Given the description of an element on the screen output the (x, y) to click on. 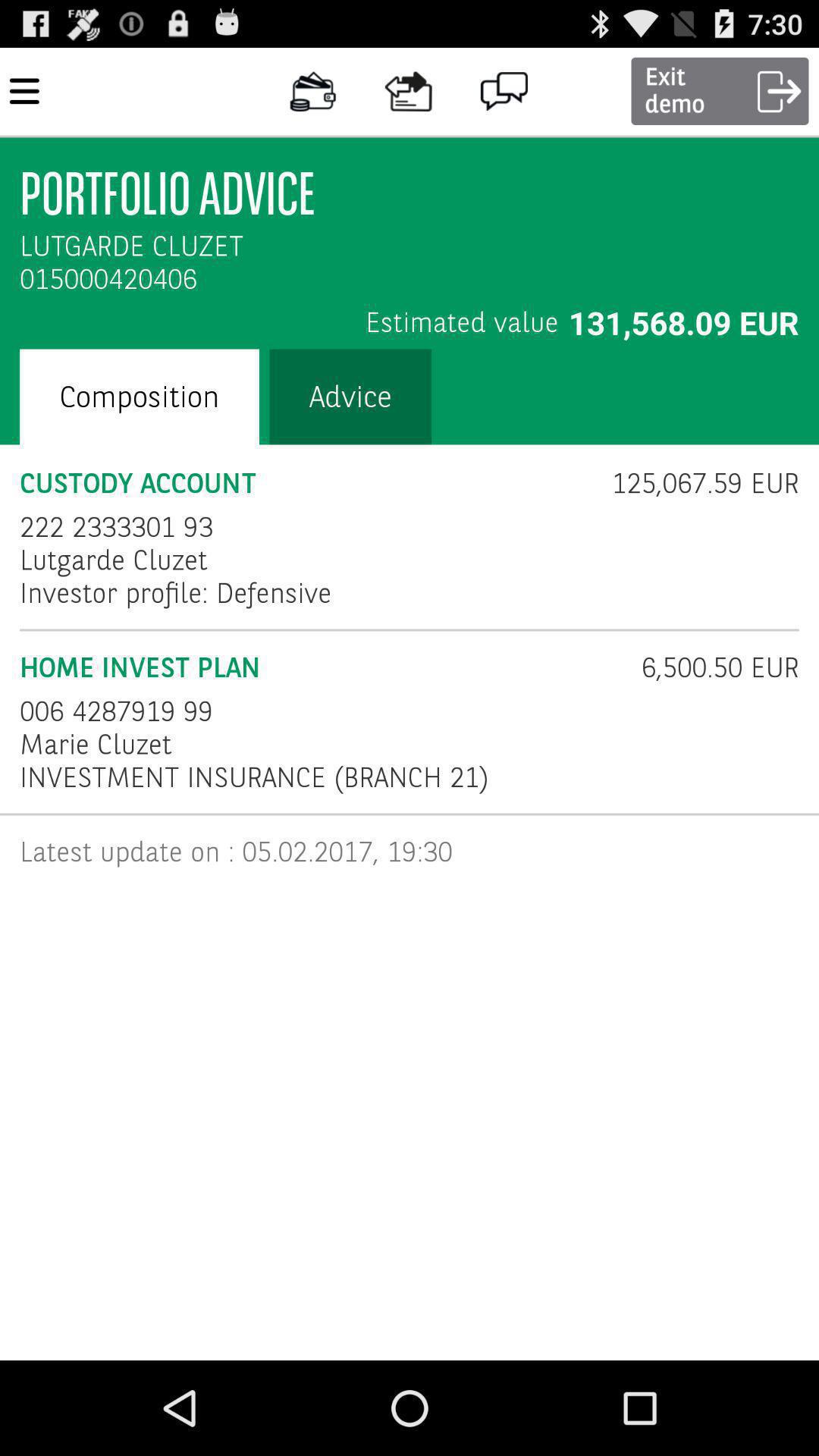
open 125 067 59 (695, 482)
